Given the description of an element on the screen output the (x, y) to click on. 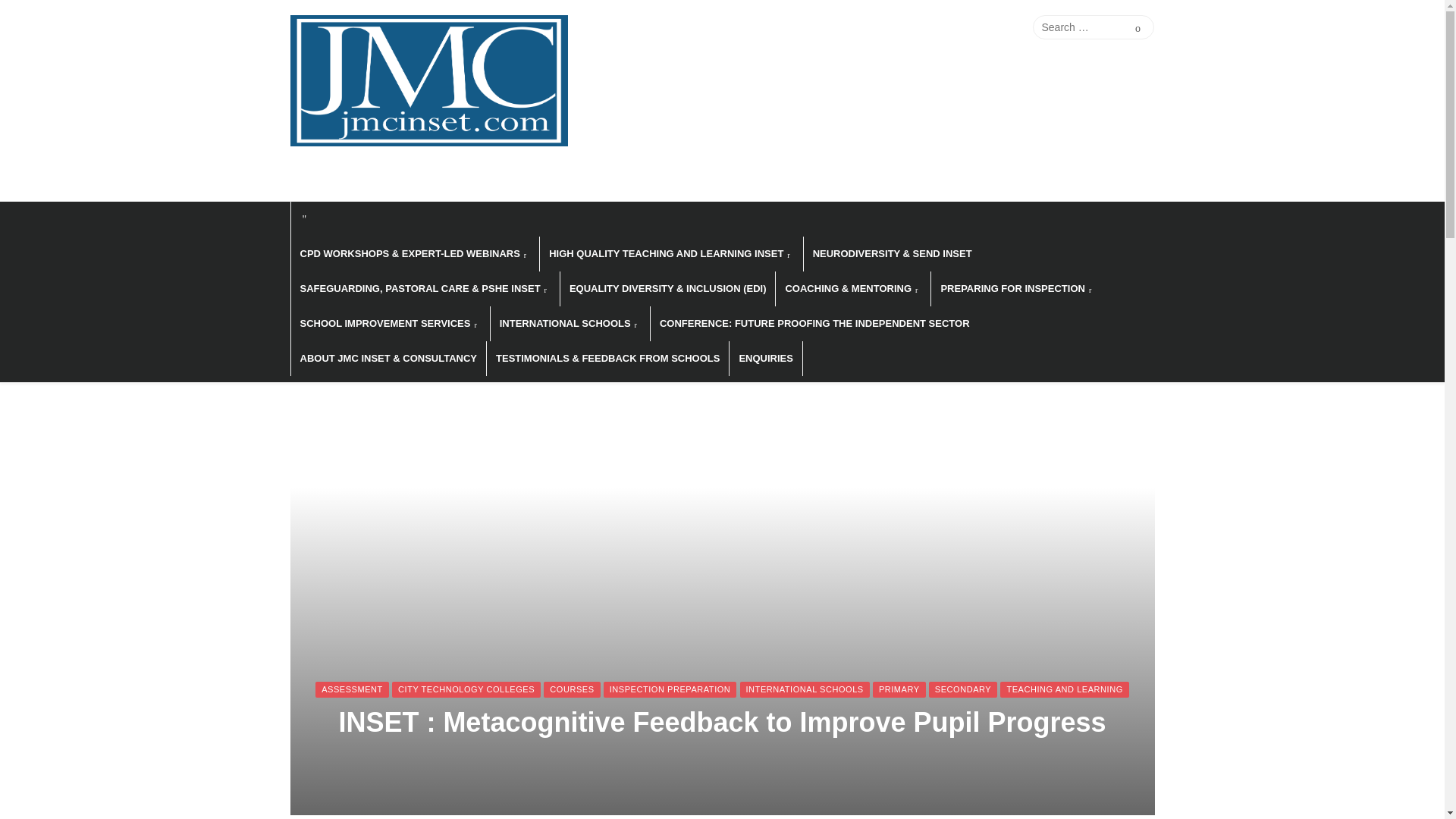
HIGH QUALITY TEACHING AND LEARNING INSET (670, 253)
Our full INSET course directory (948, 27)
Search (1137, 27)
